Given the description of an element on the screen output the (x, y) to click on. 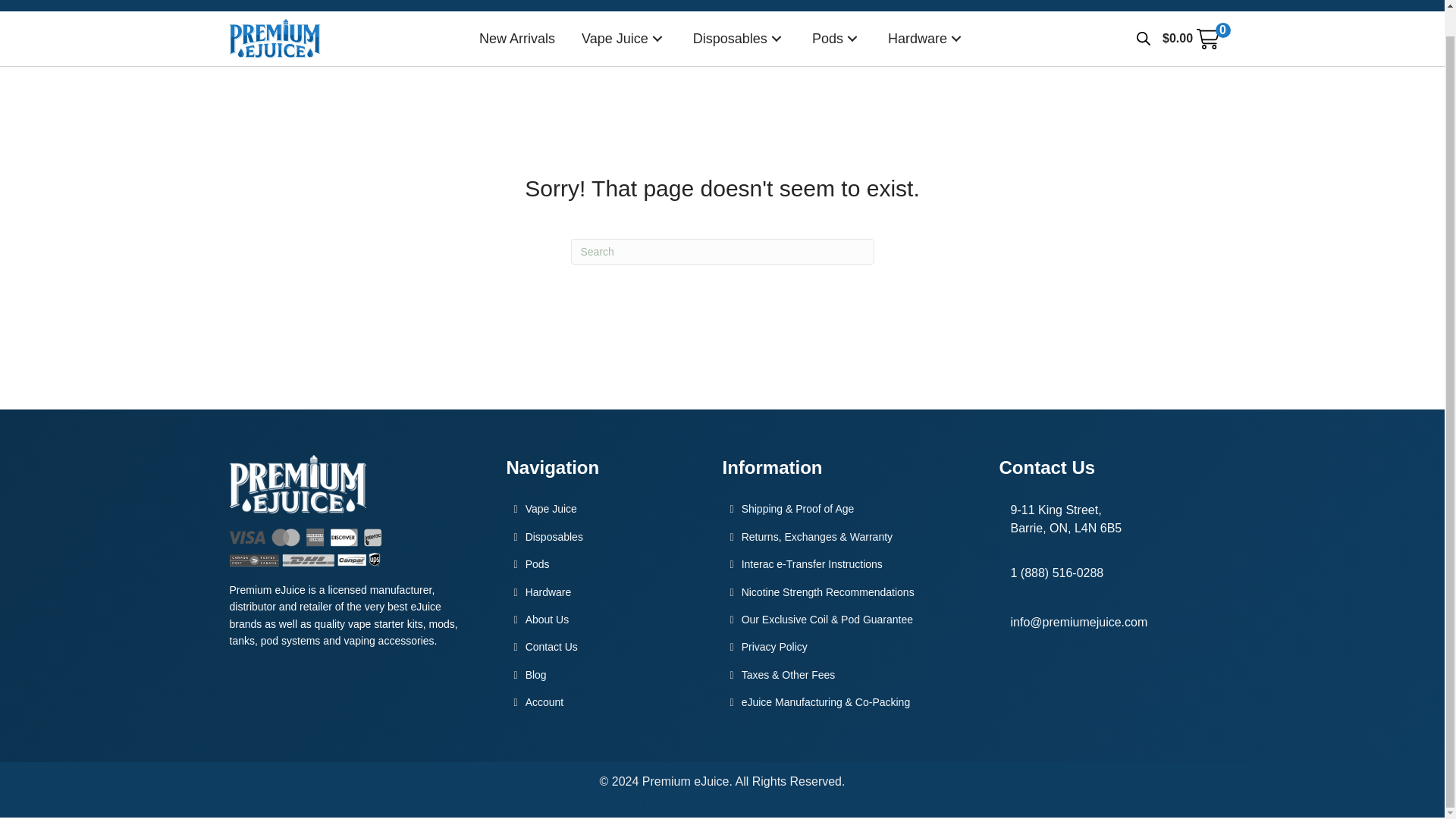
eJuice (623, 38)
Premium eJuice Logo (274, 37)
